Given the description of an element on the screen output the (x, y) to click on. 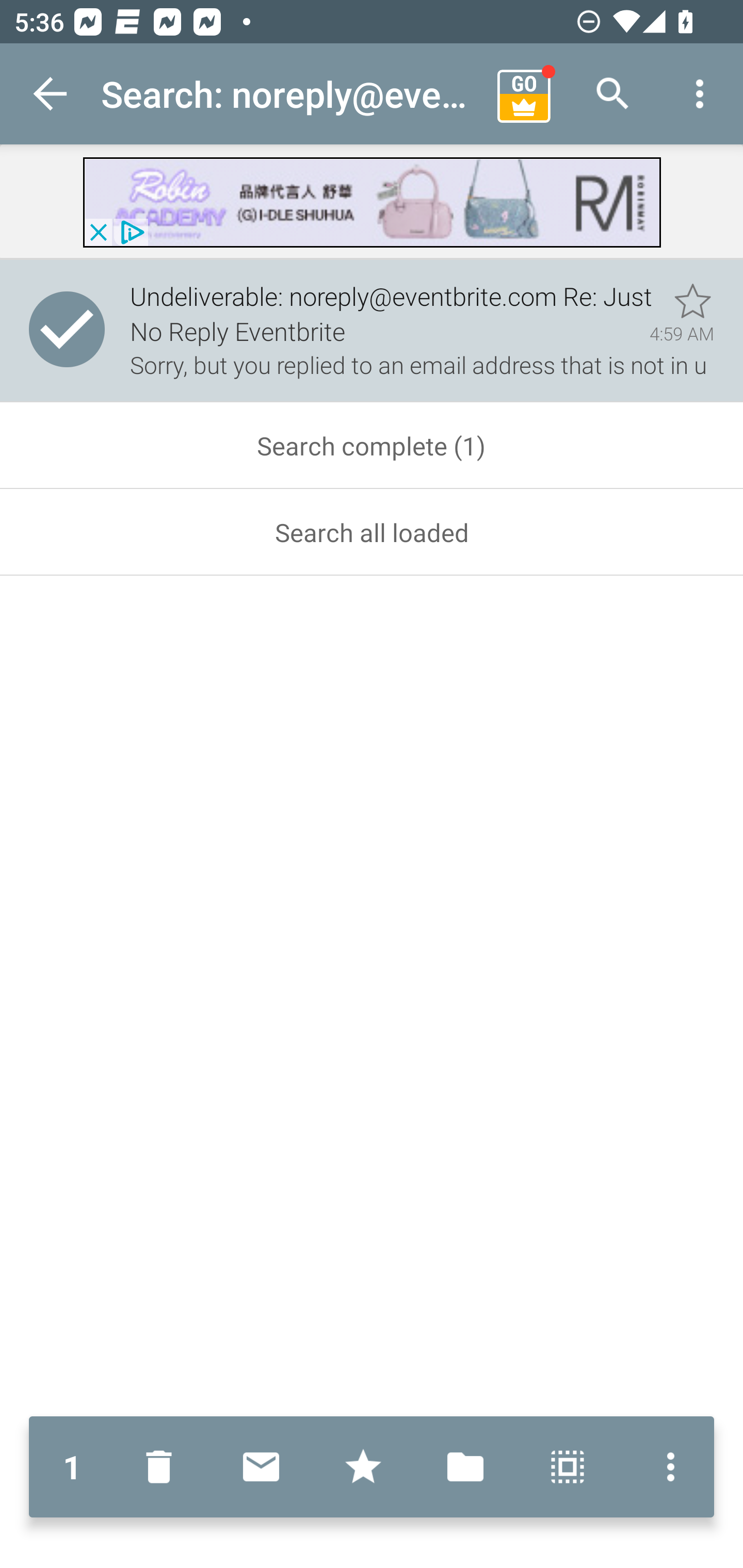
Navigate up (50, 93)
Search (612, 93)
More options (699, 93)
close_button (97, 231)
privacy_small (130, 231)
Search complete (1) (371, 445)
Search all loaded (371, 532)
1 1 message (71, 1466)
Move to Deleted (162, 1466)
Mark unread (261, 1466)
Mark with stars (363, 1466)
Move to folder… (465, 1466)
Select all (567, 1466)
More options (666, 1466)
